Given the description of an element on the screen output the (x, y) to click on. 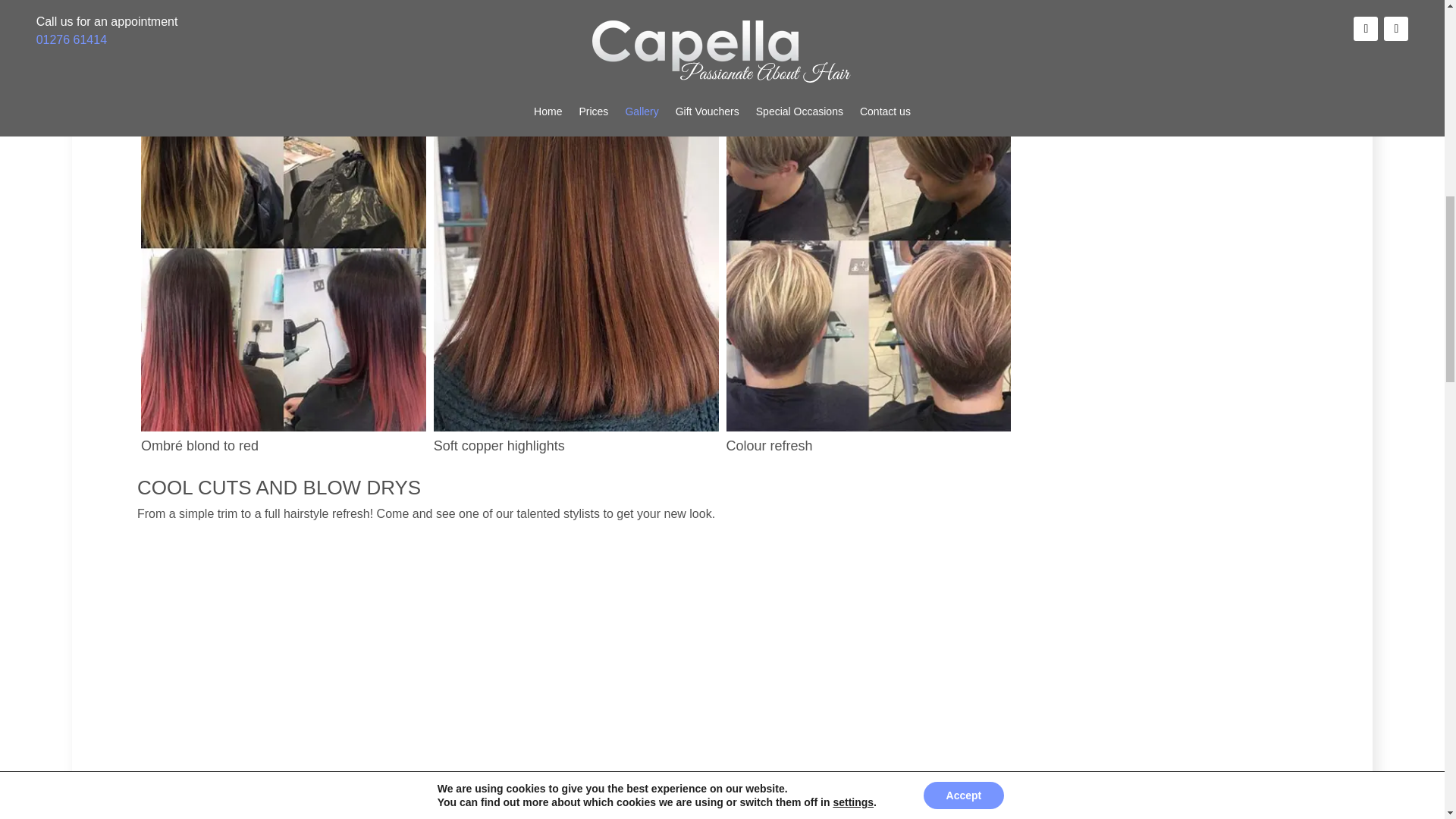
Ombre red balayage (868, 31)
Dark blond Balayage (1160, 31)
Short hair balayage (576, 31)
Colour refresh (868, 427)
Soft copper highlights (576, 427)
Warm balayage (283, 31)
